Given the description of an element on the screen output the (x, y) to click on. 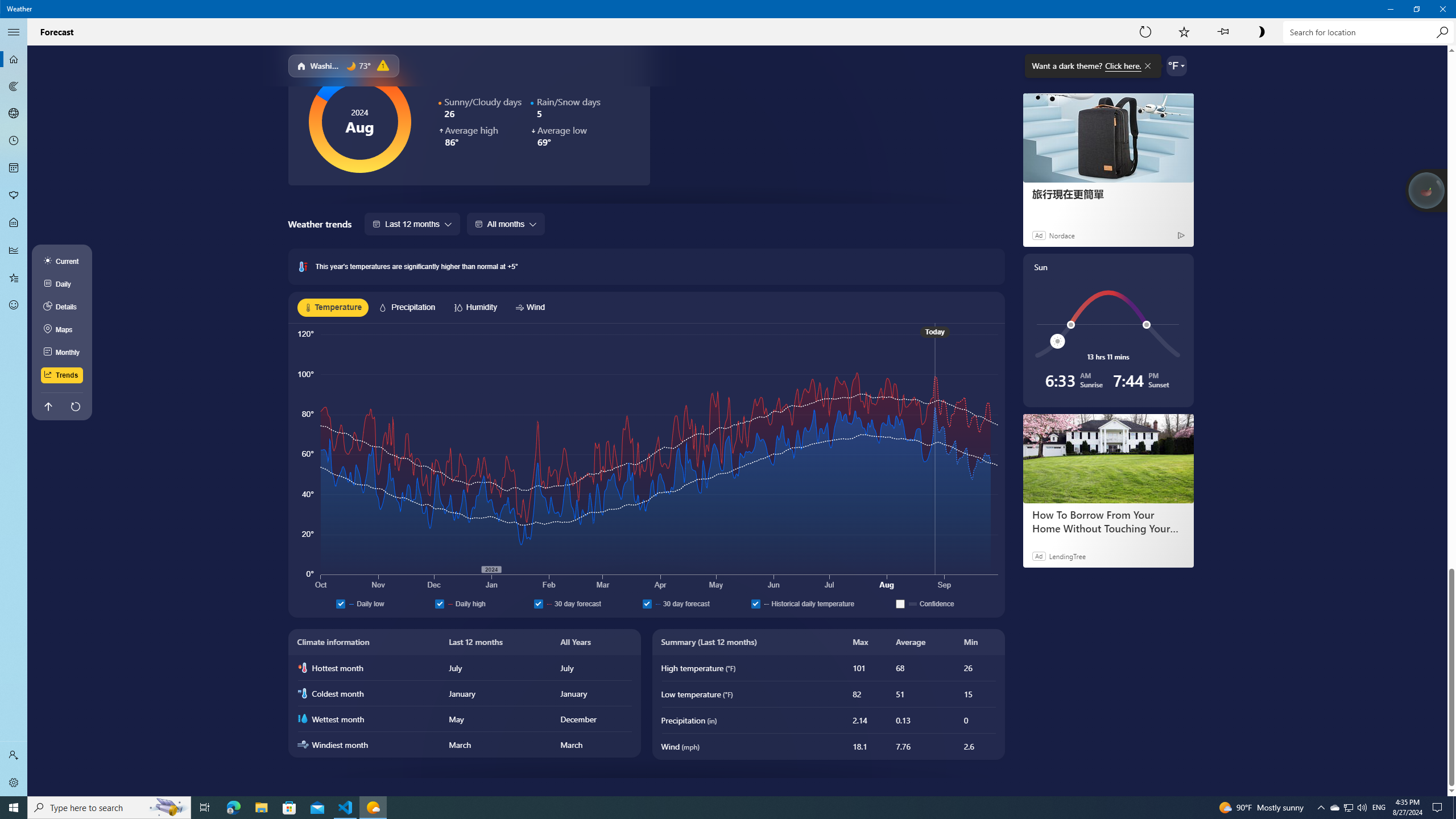
3D Maps - Not Selected (13, 113)
Life - Not Selected (13, 222)
Add to Favorites (1184, 31)
Sign in (13, 755)
Close Weather (1442, 9)
Pin (1222, 31)
Monthly Forecast - Not Selected (13, 167)
Collapse Navigation (13, 31)
Refresh (1144, 31)
Start (13, 807)
Pollen - Not Selected (13, 195)
Weather - 1 running window (373, 807)
Microsoft Edge (233, 807)
Search highlights icon opens search home window (167, 807)
